Given the description of an element on the screen output the (x, y) to click on. 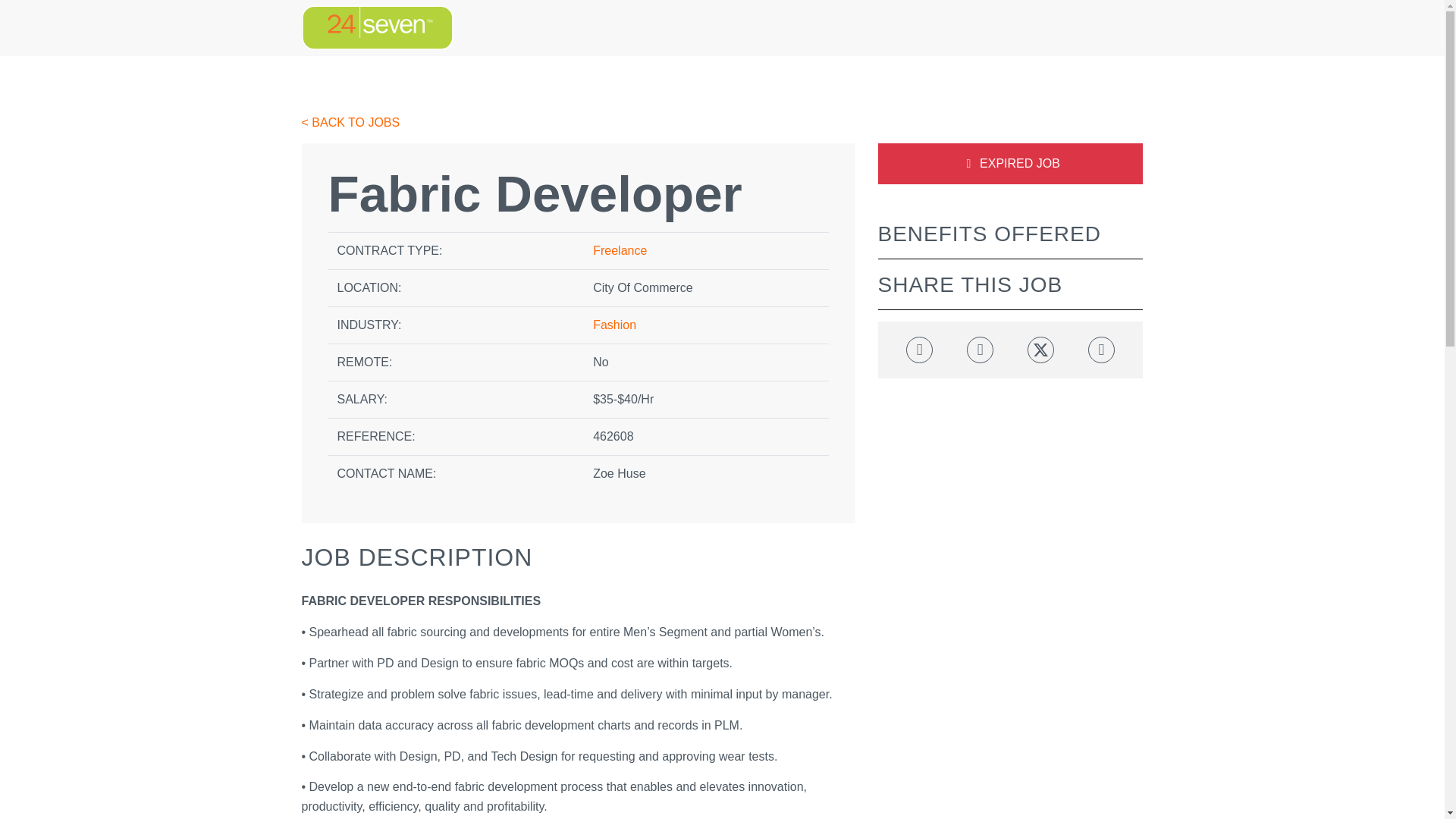
Email (1101, 349)
24 Seven (376, 27)
Fashion (614, 324)
Twitter (1040, 349)
24 Seven (376, 27)
Freelance (619, 250)
LinkedIn (979, 349)
24 Seven Talent (376, 27)
BENEFITS OFFERED (988, 233)
Facebook (919, 349)
